Given the description of an element on the screen output the (x, y) to click on. 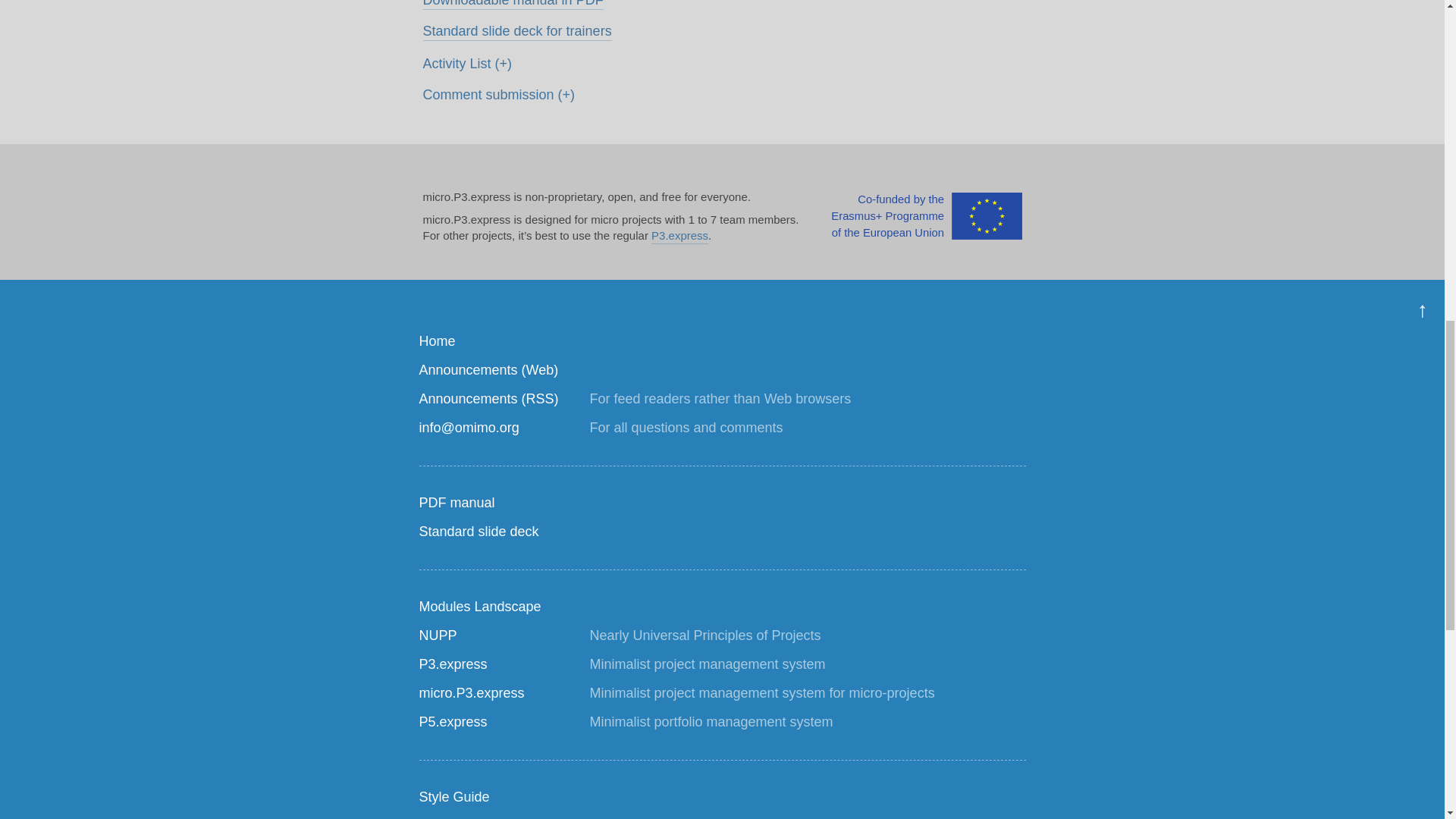
Downloadable manual in PDF (513, 4)
Standard slide deck for trainers (517, 31)
